Given the description of an element on the screen output the (x, y) to click on. 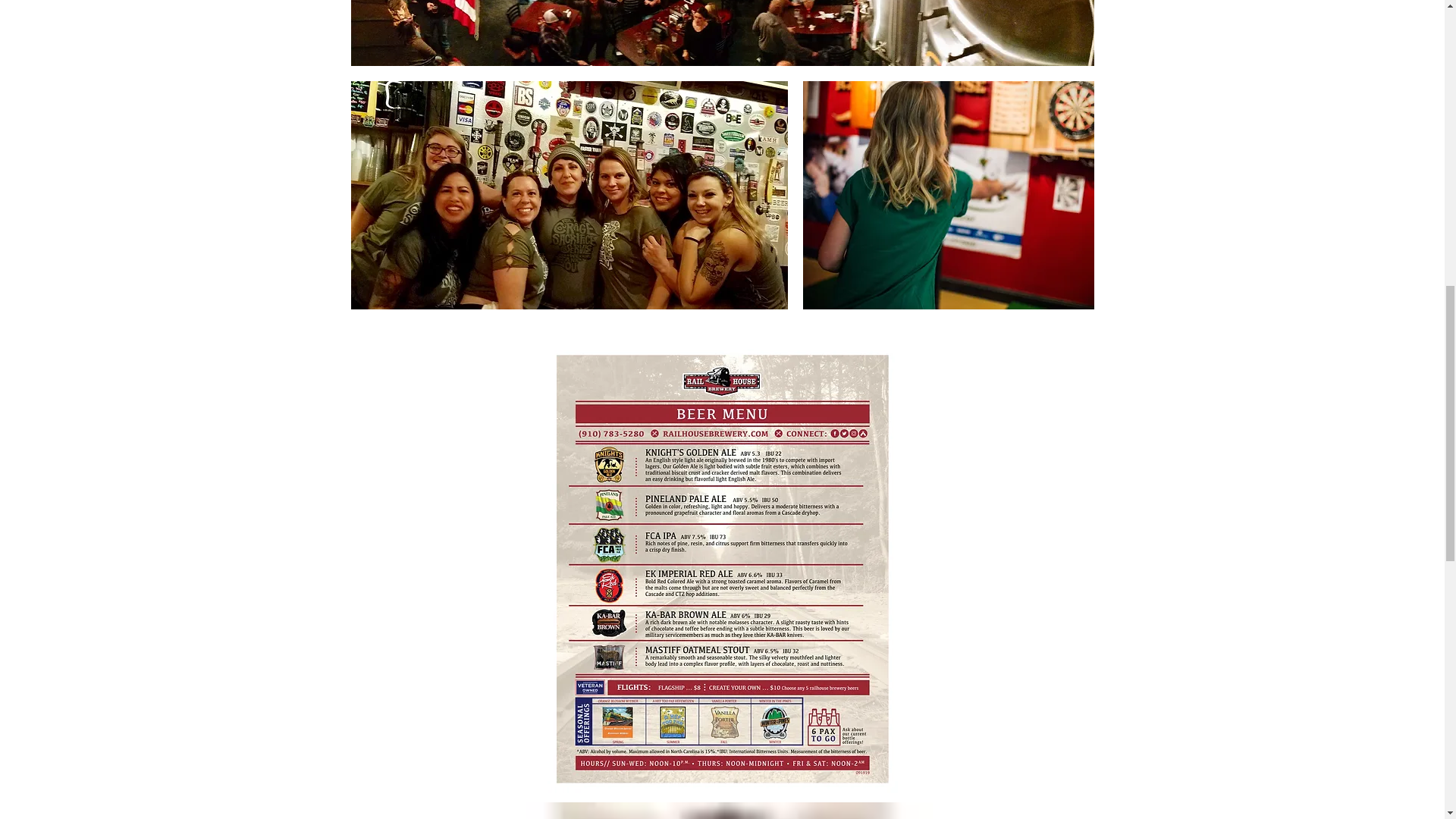
Menu 11-12-21.jpg (722, 810)
